Given the description of an element on the screen output the (x, y) to click on. 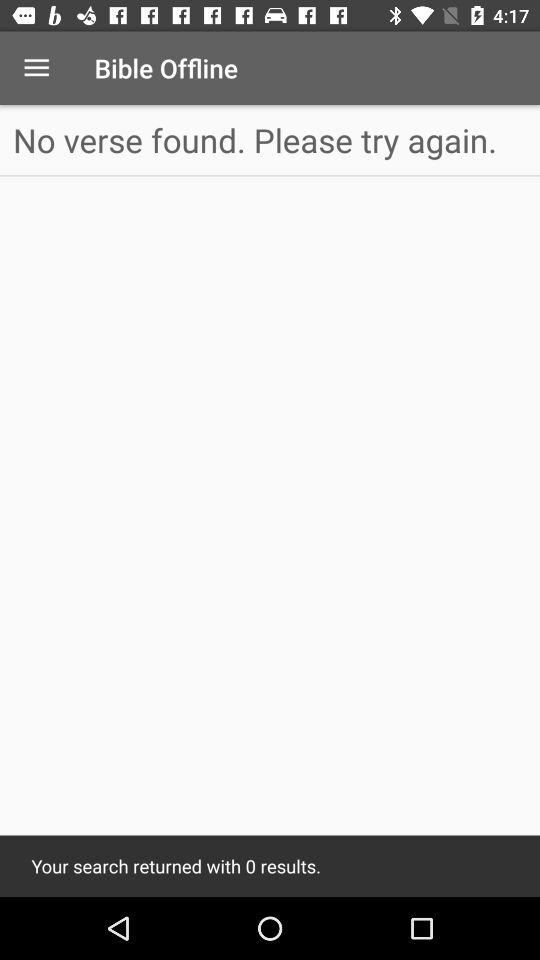
turn off the item above the no verse found item (36, 68)
